Given the description of an element on the screen output the (x, y) to click on. 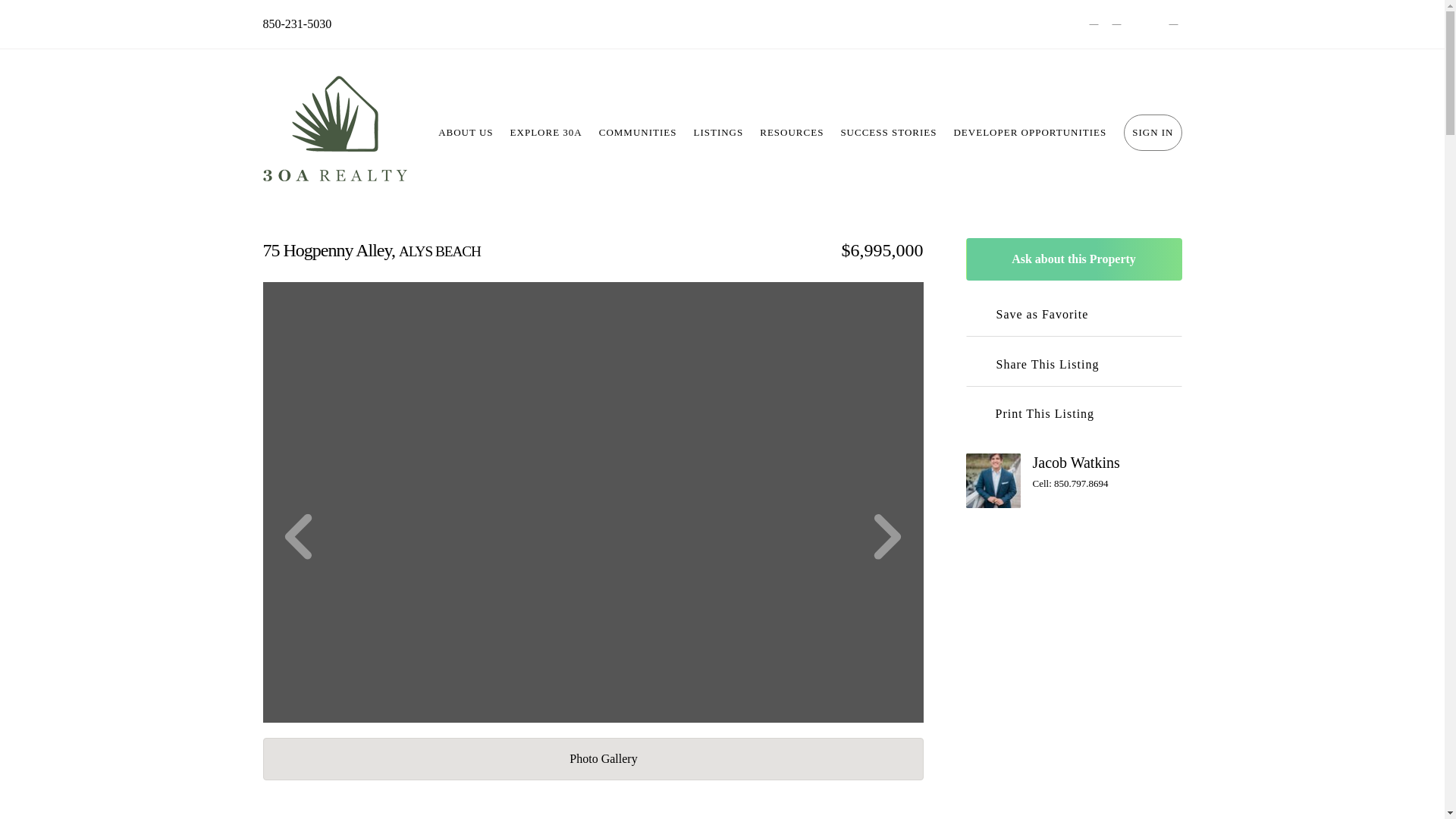
ABOUT US (464, 132)
RESOURCES (791, 132)
SUCCESS STORIES (887, 132)
850-231-5030 (296, 24)
LISTINGS (717, 132)
Site Logo (334, 132)
EXPLORE 30A (546, 132)
COMMUNITIES (638, 132)
